Given the description of an element on the screen output the (x, y) to click on. 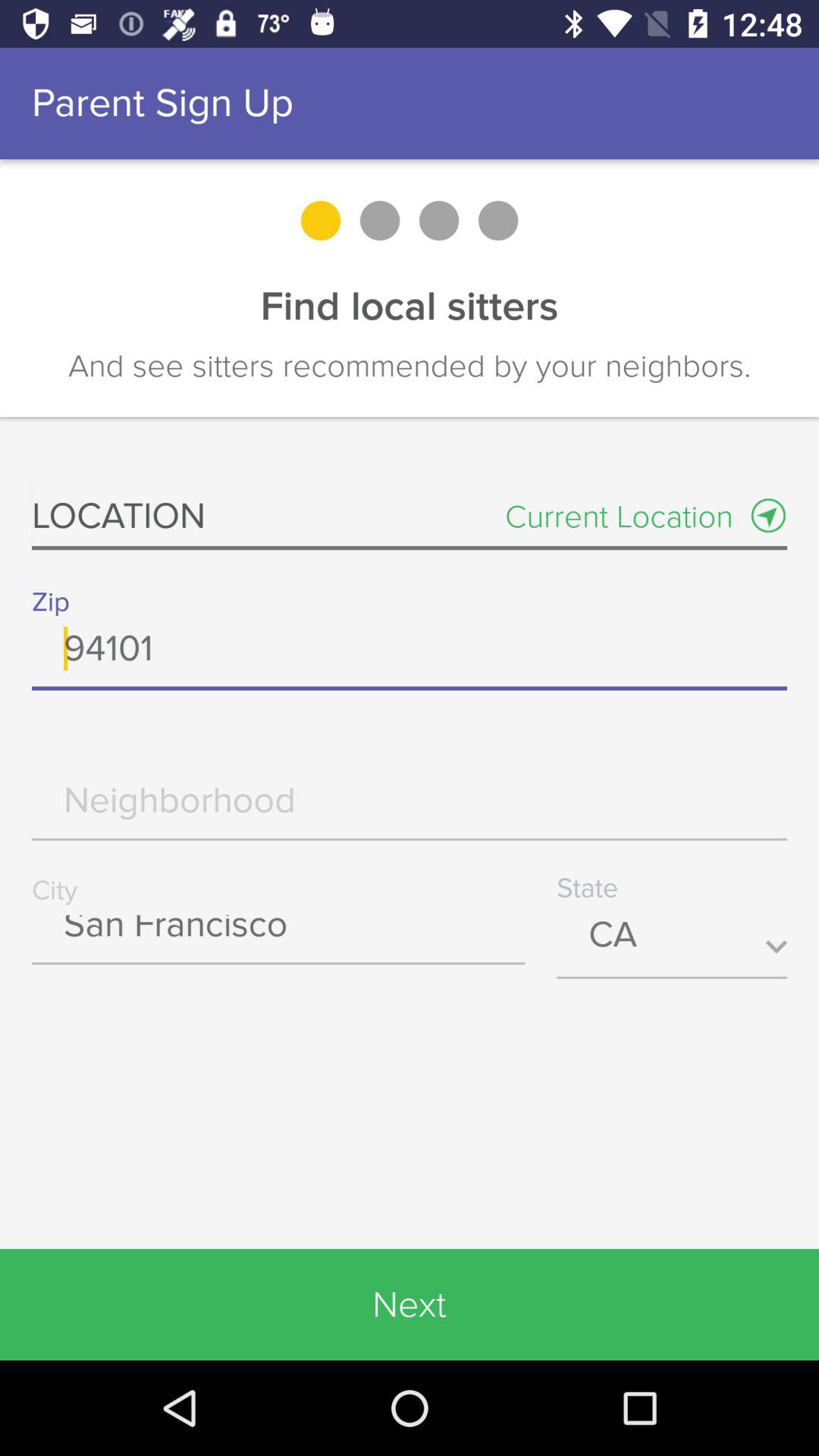
neighborhood (409, 811)
